Given the description of an element on the screen output the (x, y) to click on. 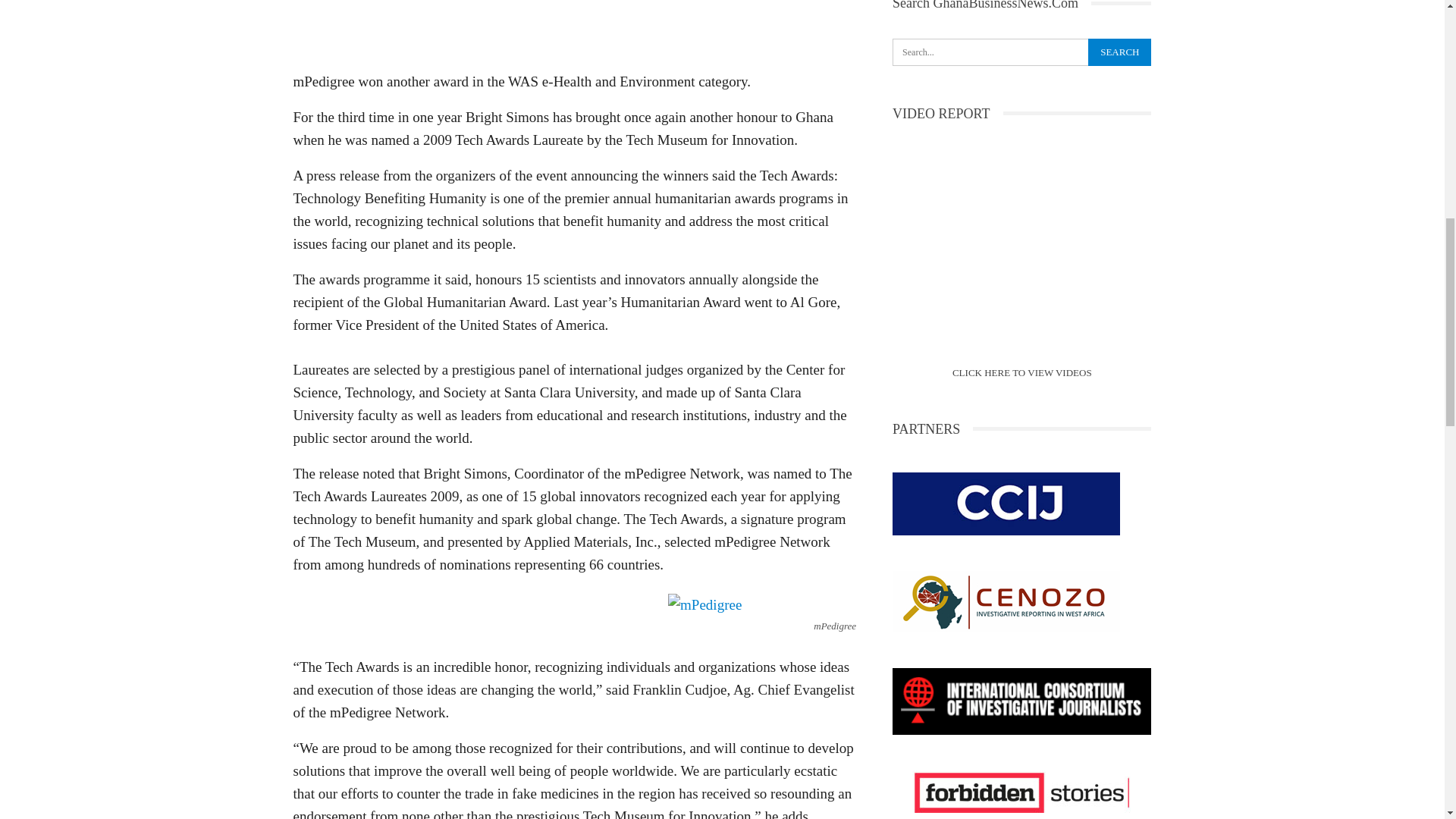
Search (1119, 52)
Search (1119, 52)
mPedigree (704, 604)
Advertisement (574, 30)
